Given the description of an element on the screen output the (x, y) to click on. 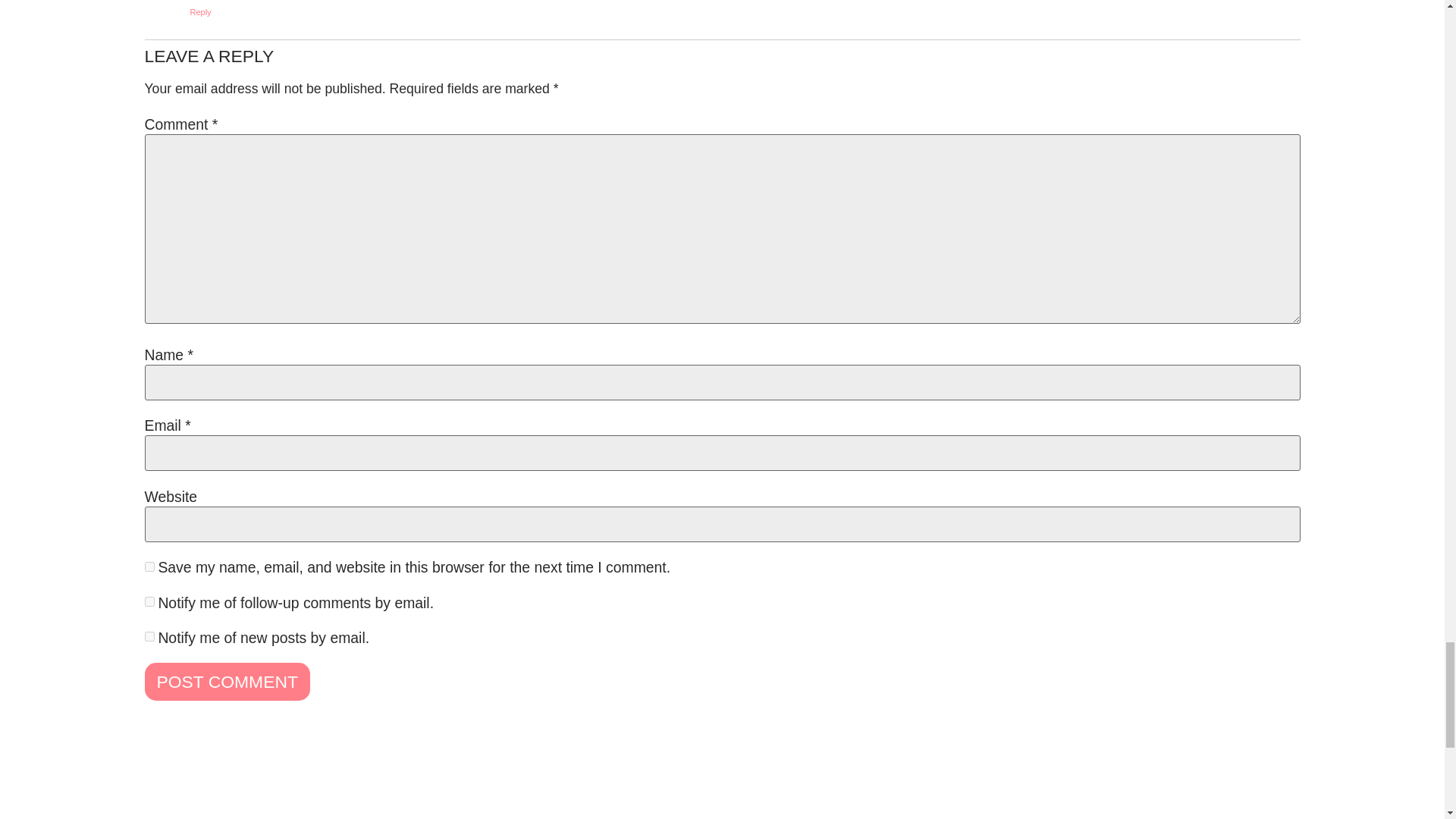
subscribe (149, 601)
subscribe (149, 636)
yes (149, 566)
Post Comment (226, 681)
